Given the description of an element on the screen output the (x, y) to click on. 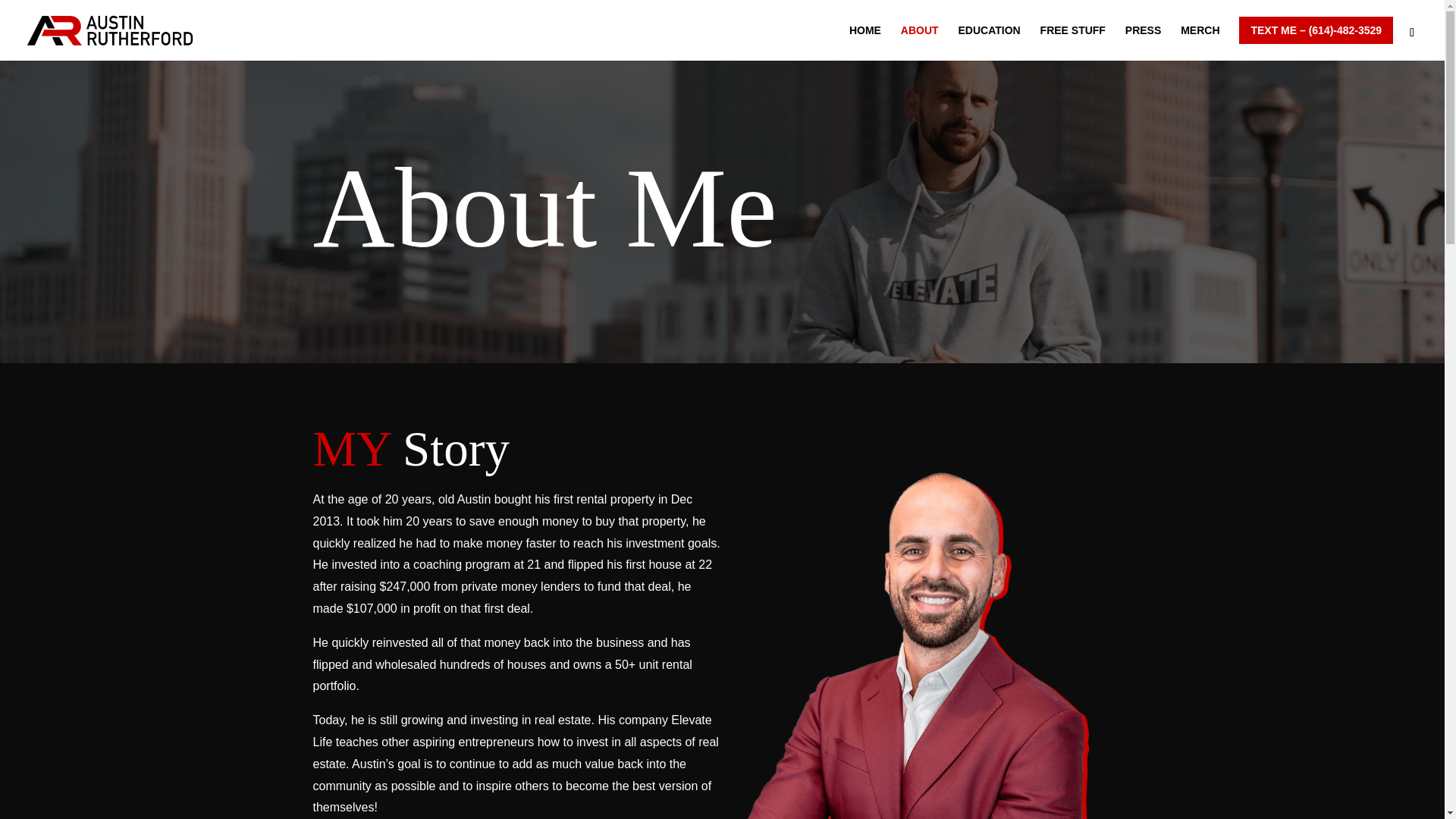
FREE STUFF (1073, 42)
MERCH (1200, 42)
EDUCATION (989, 42)
HOME (864, 42)
PRESS (1142, 42)
ABOUT (920, 42)
